Given the description of an element on the screen output the (x, y) to click on. 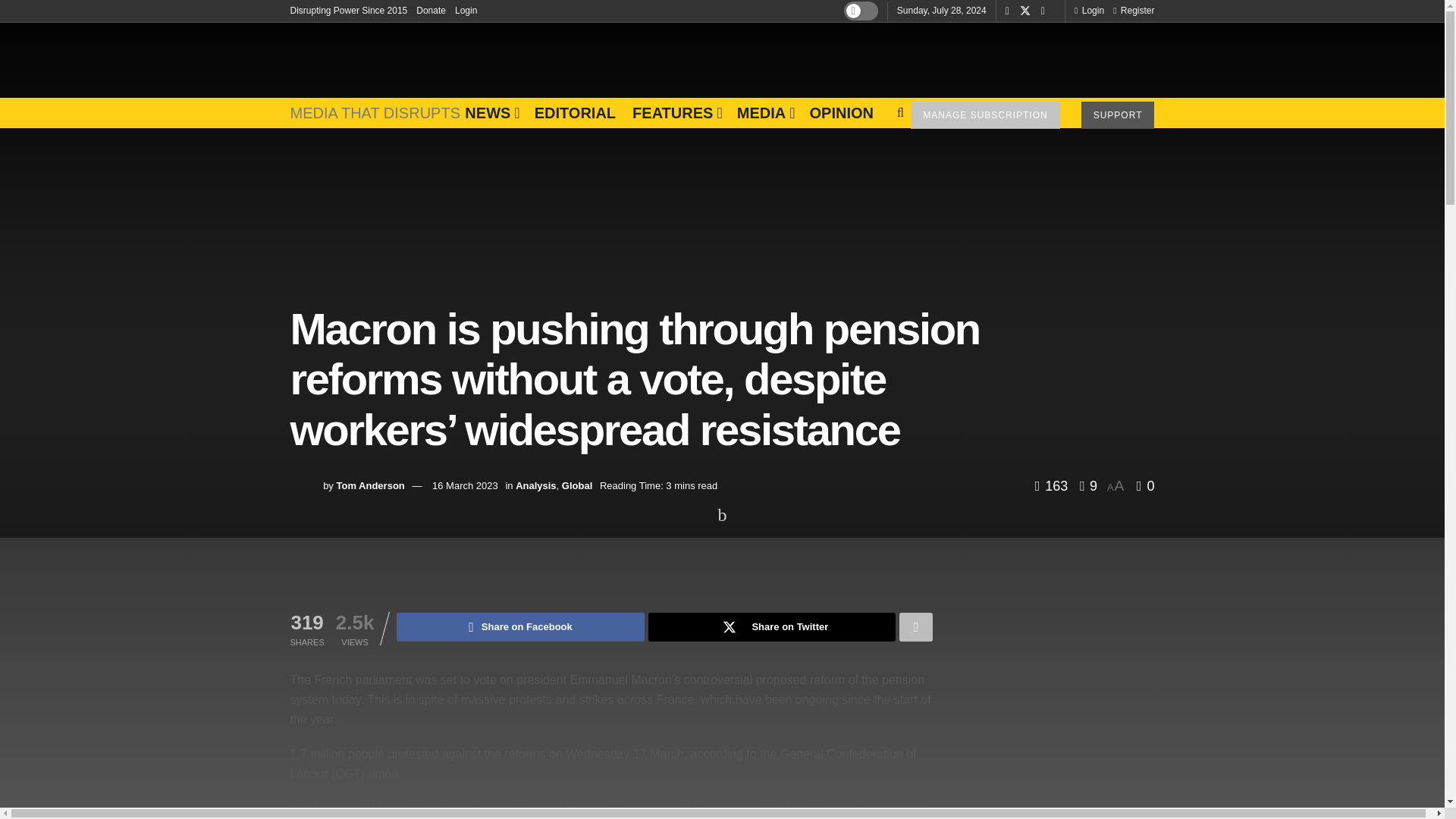
MEDIA (764, 112)
Register (1133, 11)
MANAGE SUBSCRIPTION (985, 114)
Login (1088, 11)
FEATURES (675, 112)
NEWS (490, 112)
Donate (430, 11)
Login (465, 11)
Disrupting Power Since 2015 (348, 11)
EDITORIAL (574, 112)
OPINION (840, 112)
SUPPORT (1117, 114)
